Given the description of an element on the screen output the (x, y) to click on. 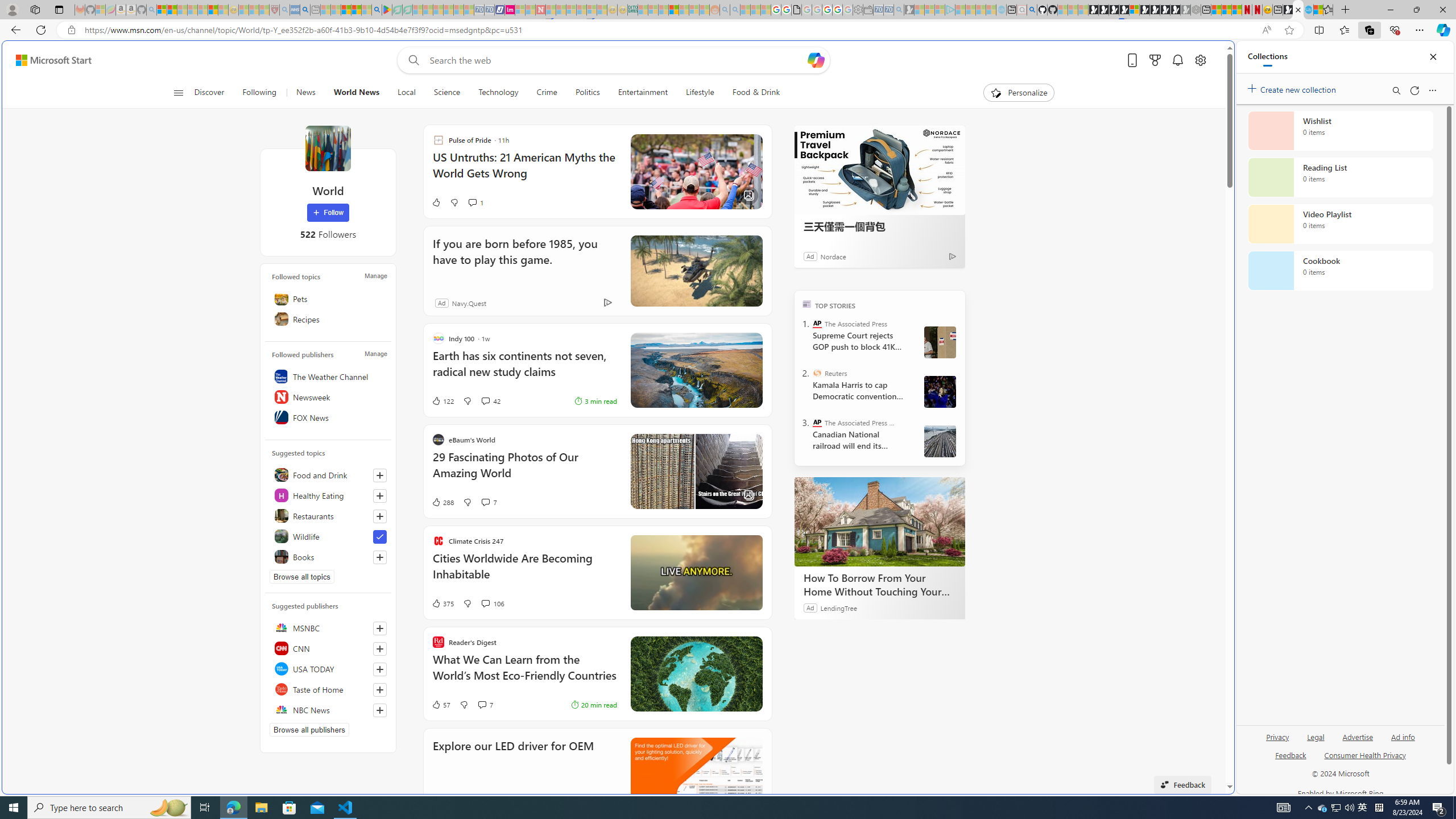
Browse all topics (301, 576)
Pets (327, 298)
Explore our LED driver for OEM (513, 761)
